Given the description of an element on the screen output the (x, y) to click on. 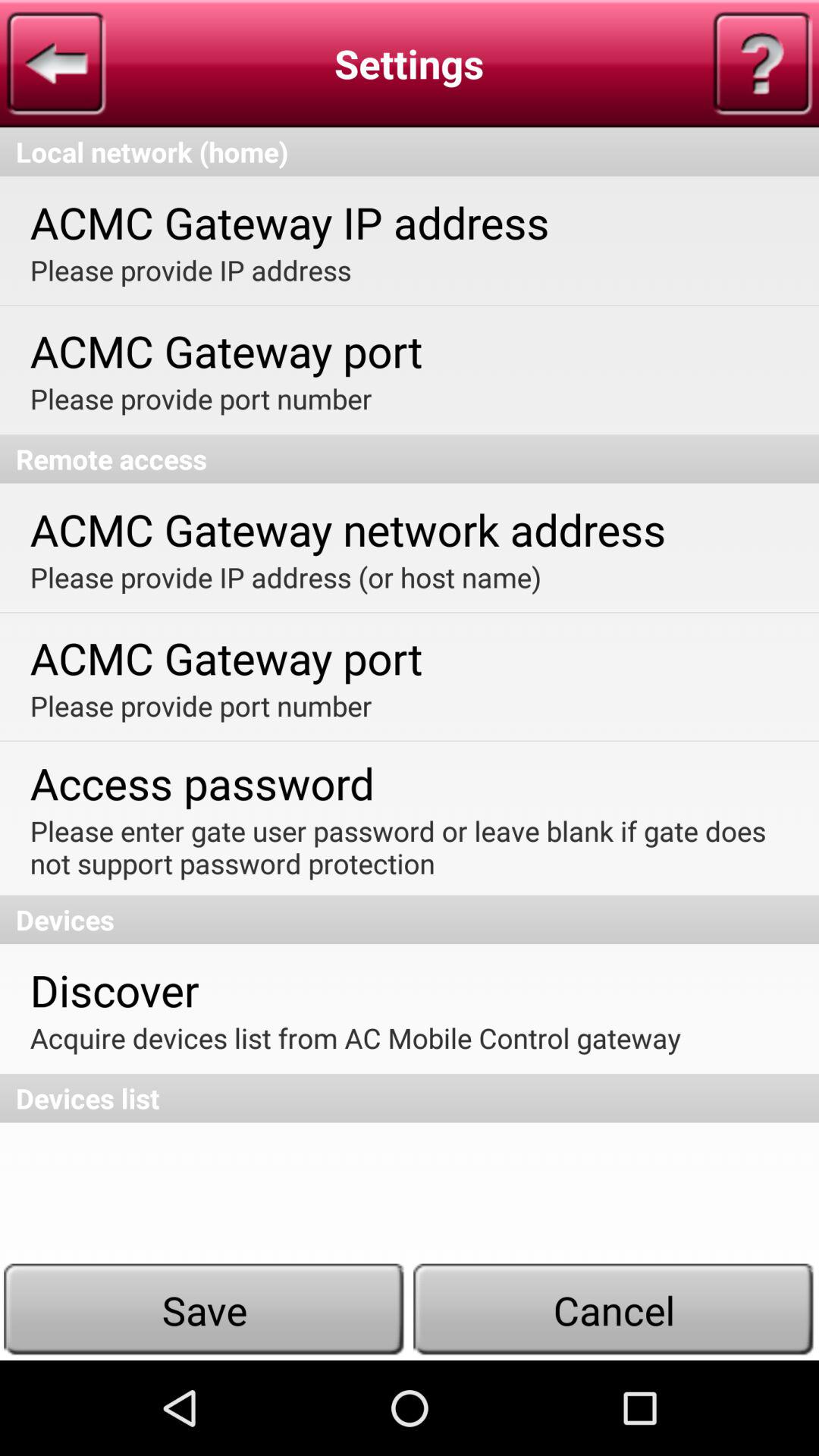
click help button (762, 63)
